Given the description of an element on the screen output the (x, y) to click on. 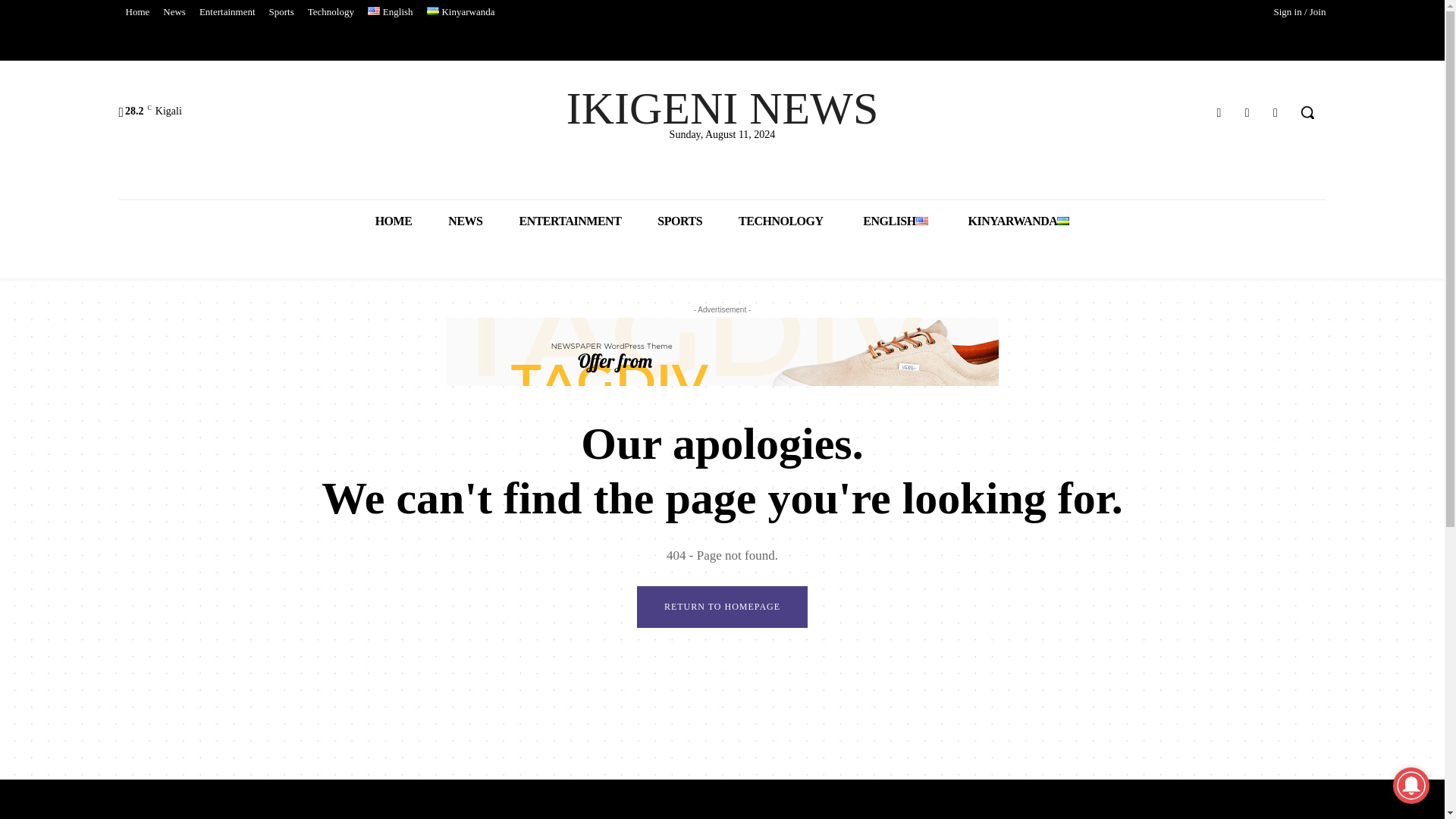
Technology (331, 12)
Twitter (1246, 112)
News (173, 12)
Kinyarwanda (461, 12)
IKIGENI NEWS (721, 108)
ENGLISH (893, 220)
Entertainment (227, 12)
HOME (393, 220)
English (390, 12)
Home (136, 12)
